Given the description of an element on the screen output the (x, y) to click on. 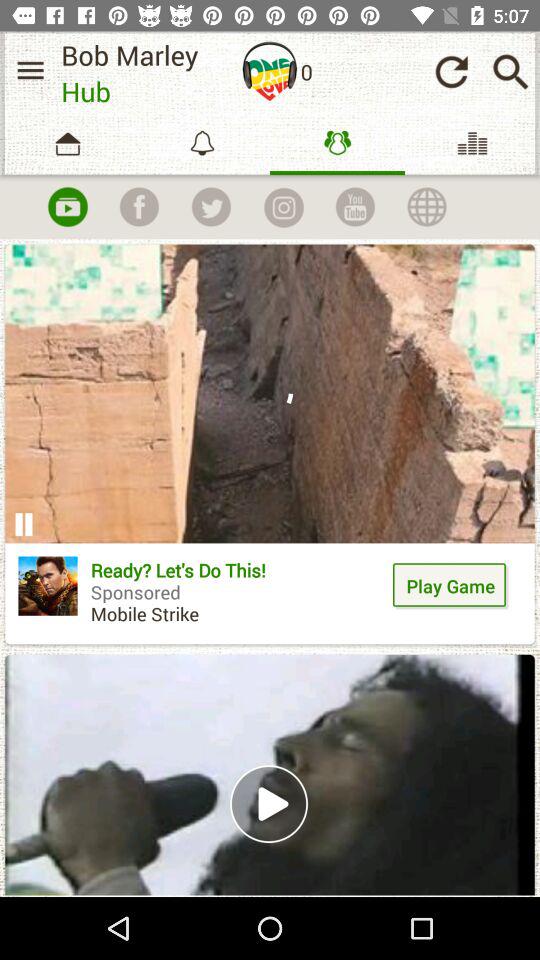
tap icon next to the ready let s item (47, 585)
